Given the description of an element on the screen output the (x, y) to click on. 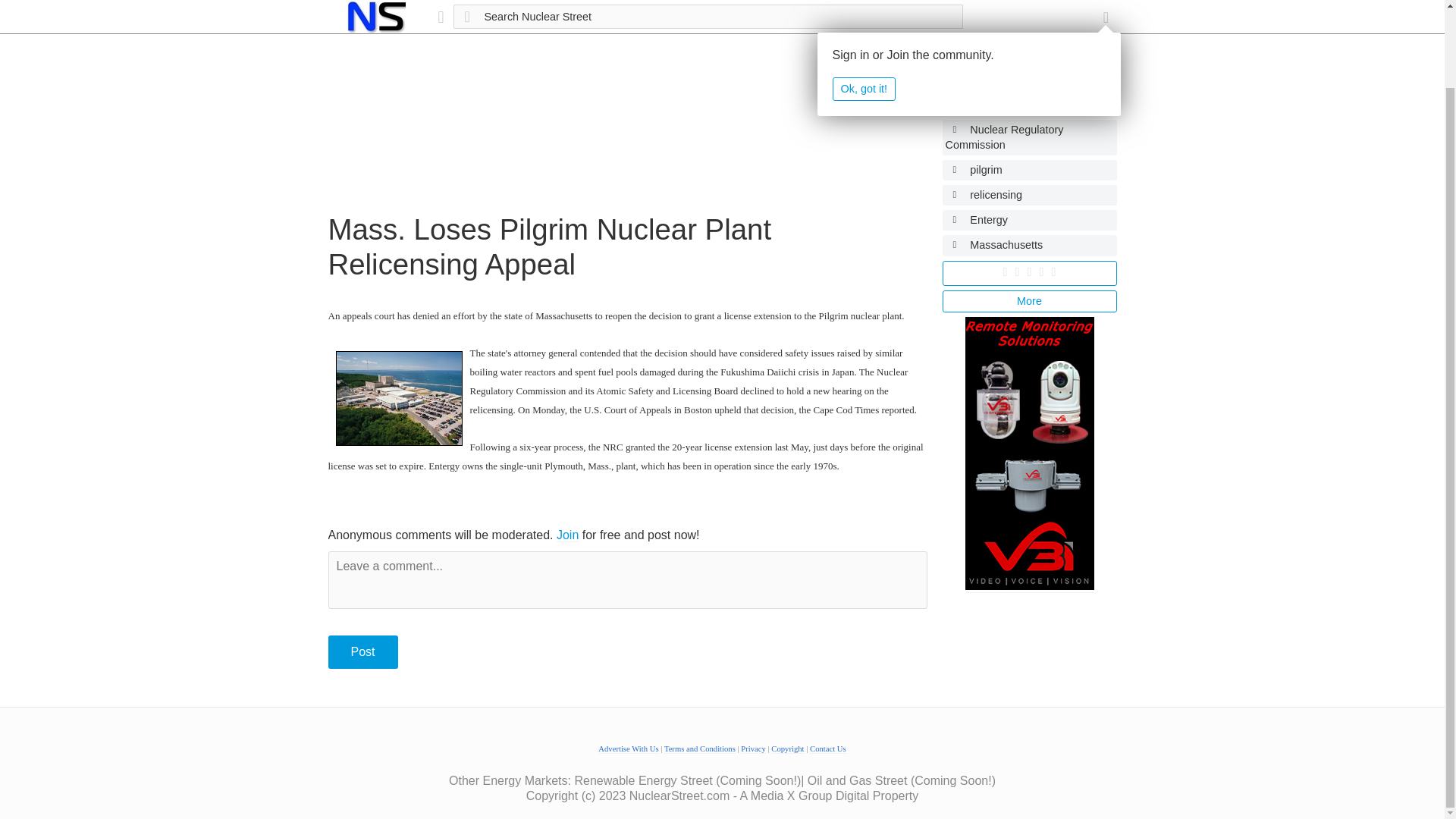
Entergy (1029, 219)
Massachusetts (1029, 245)
pilgrim (1029, 169)
Average rating: 0 out of 0 ratings. (1028, 272)
More (1029, 301)
Advertisement (626, 106)
Nuclear Regulatory Commission (1029, 136)
Pilgrim nuclear plant. Source: NRC (397, 398)
Join Nuclear Street (567, 535)
relicensing (1029, 195)
Nuclear Street News Team (1029, 78)
